Given the description of an element on the screen output the (x, y) to click on. 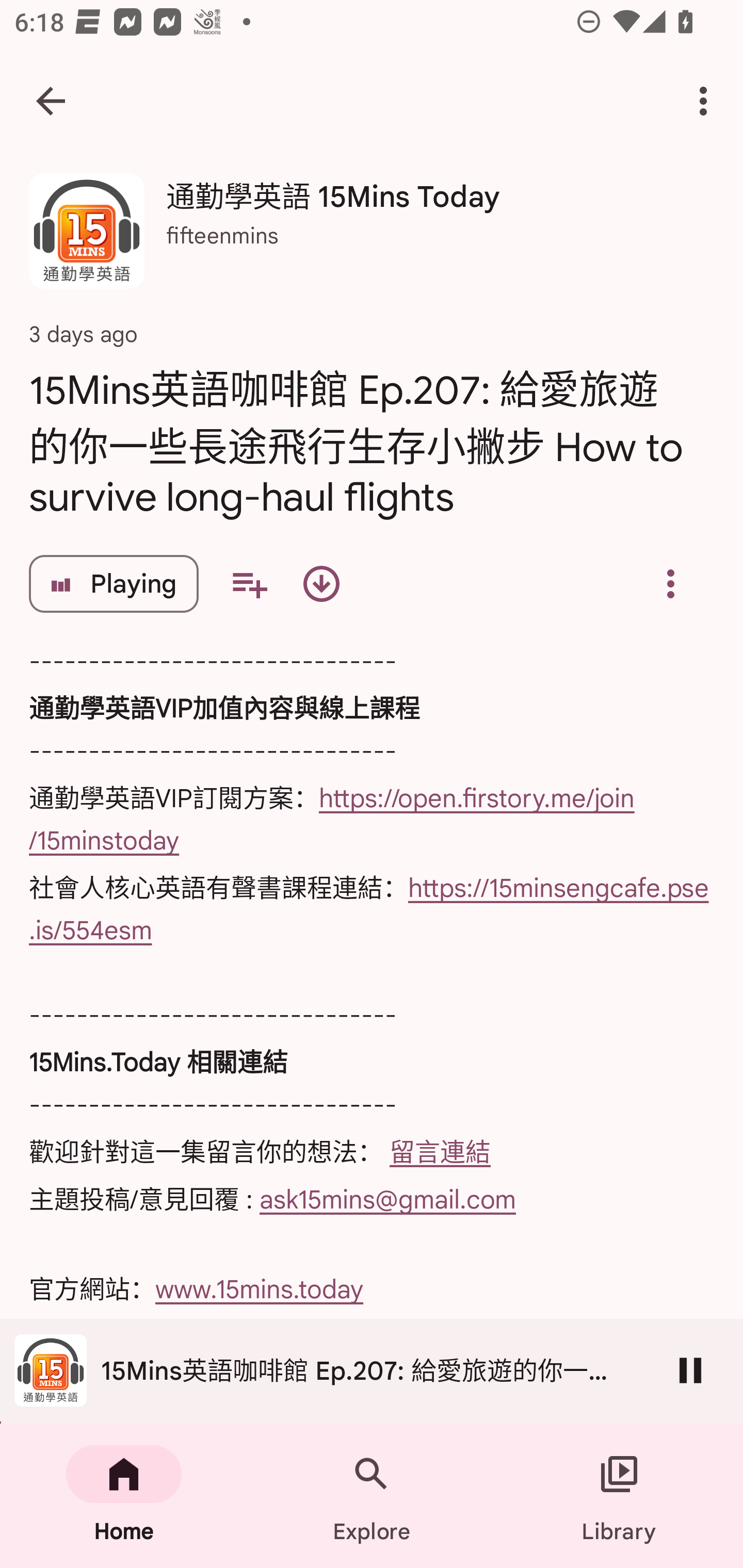
Navigate up (50, 101)
More options (706, 101)
通勤學英語 15Mins Today 通勤學英語 15Mins Today fifteenmins (371, 238)
Add to your queue (249, 583)
Download episode (321, 583)
Overflow menu (670, 583)
Pause (690, 1370)
Explore (371, 1495)
Library (619, 1495)
